Given the description of an element on the screen output the (x, y) to click on. 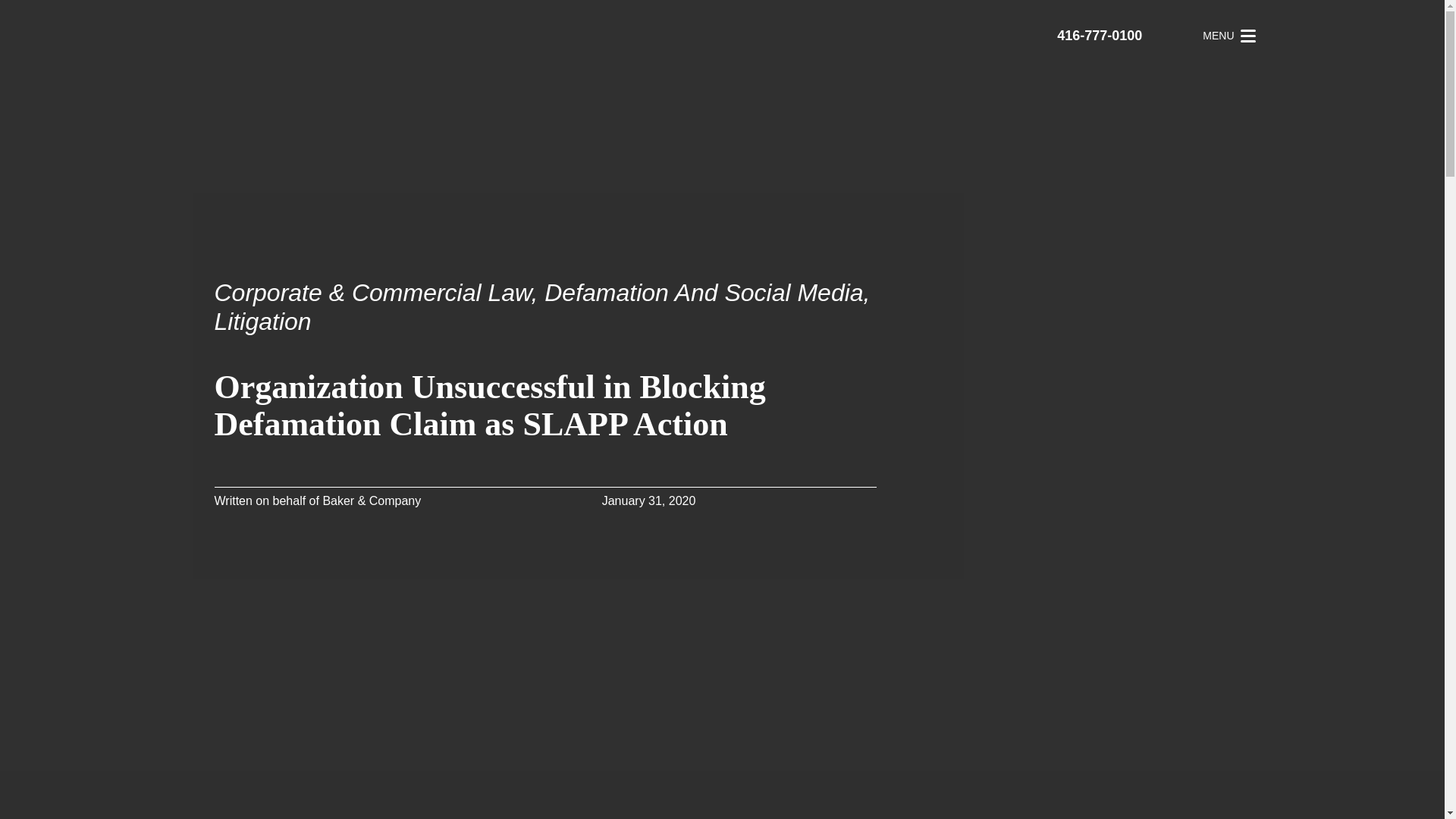
Litigation (262, 320)
416-777-0100 (1099, 35)
Defamation And Social Media (703, 292)
